Given the description of an element on the screen output the (x, y) to click on. 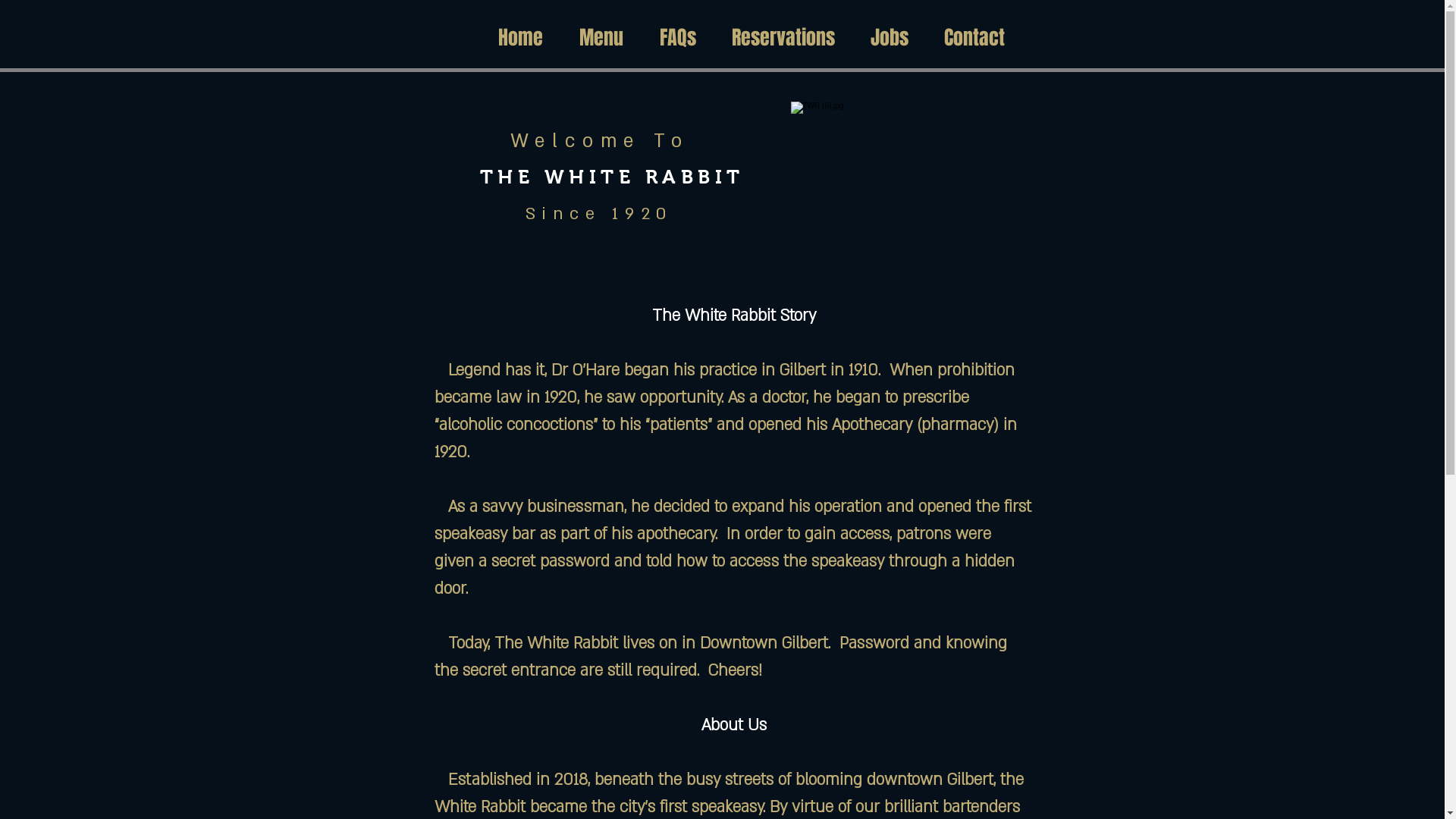
Contact Element type: text (974, 37)
Since 1920 Element type: text (598, 213)
Jobs Element type: text (888, 37)
Menu Element type: text (601, 37)
Reservations Element type: text (783, 37)
Home Element type: text (519, 37)
Welcome To Element type: text (598, 140)
FAQs Element type: text (677, 37)
THE WHITE RABBIT Element type: text (611, 176)
